Given the description of an element on the screen output the (x, y) to click on. 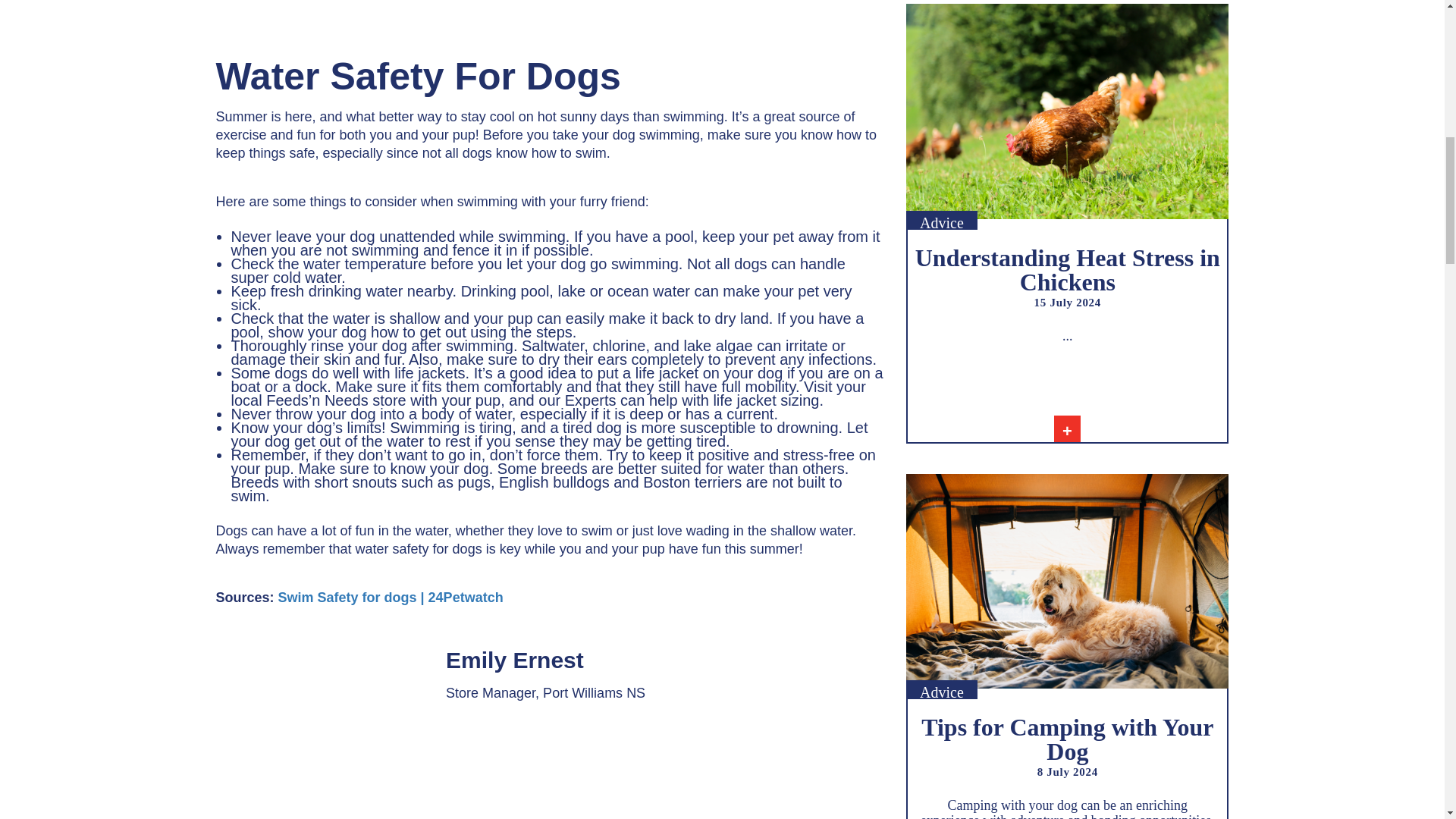
Tips for Camping with Your Dog (1066, 738)
Understanding Heat Stress in Chickens (1067, 269)
